Given the description of an element on the screen output the (x, y) to click on. 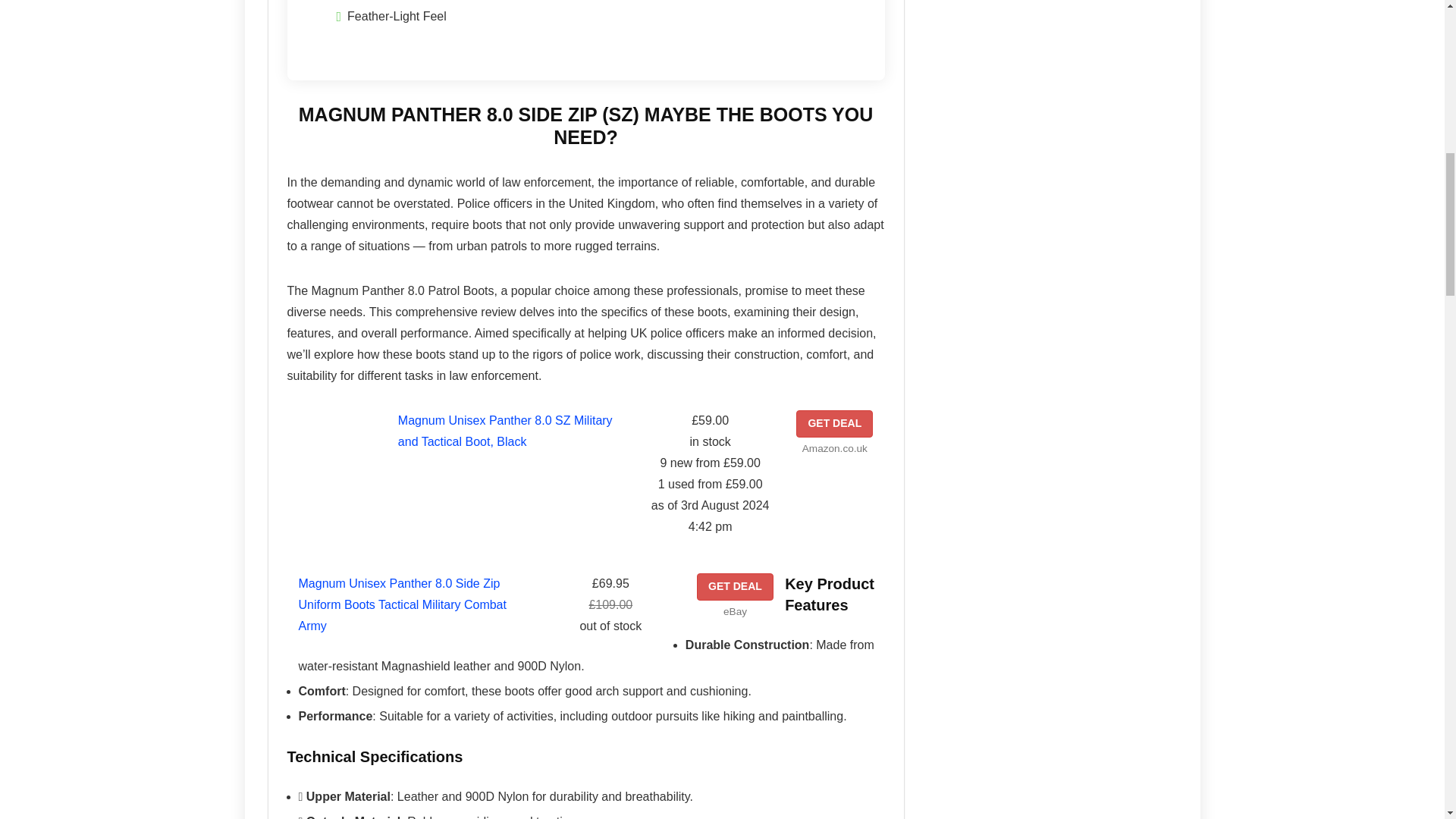
Last updated on 3rd August 2024 4:42 pm (709, 441)
Last updated on 31st July 2024 4:18 am (610, 626)
